Given the description of an element on the screen output the (x, y) to click on. 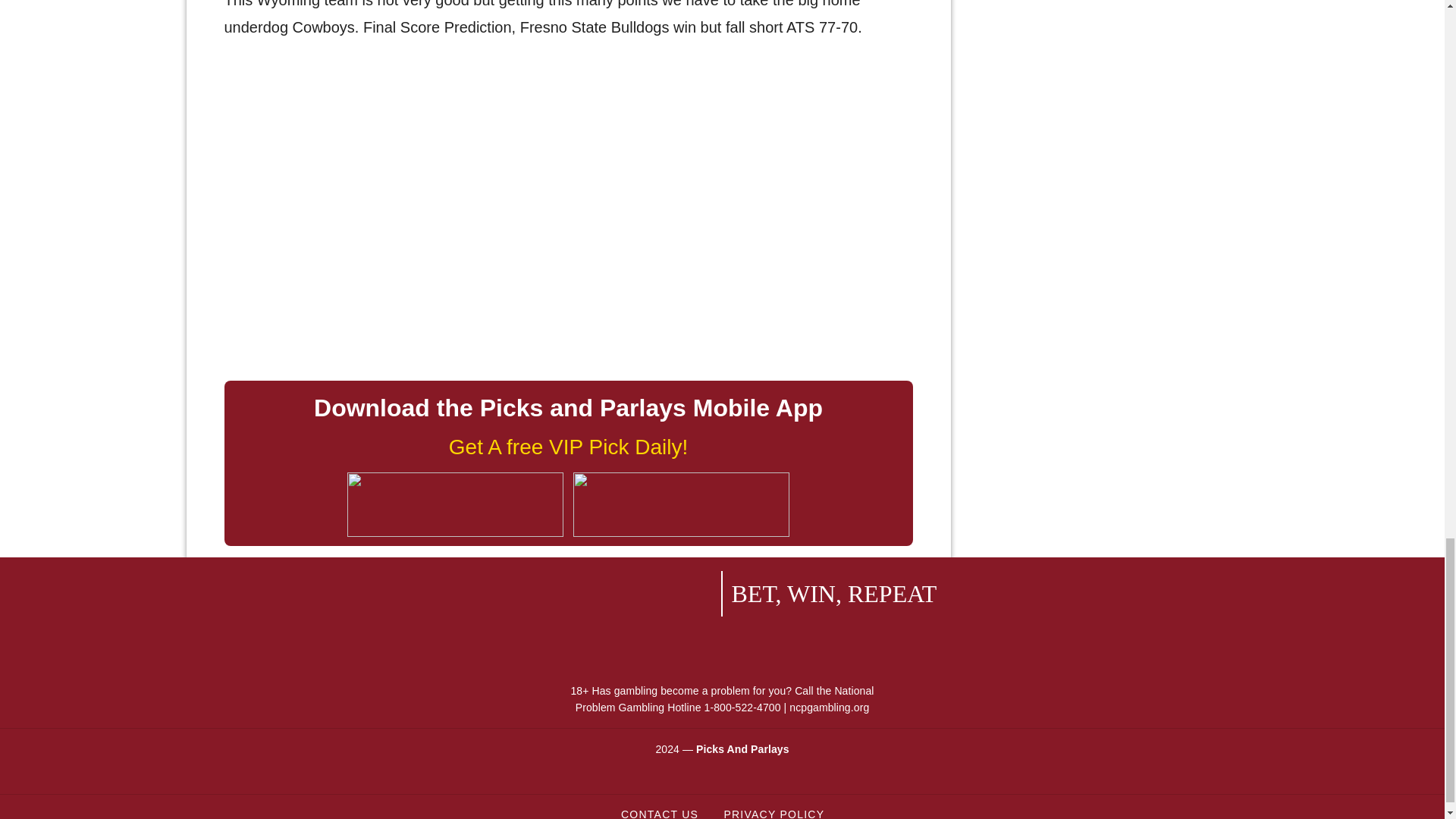
CONTACT US (659, 809)
PRIVACY POLICY (772, 809)
